Given the description of an element on the screen output the (x, y) to click on. 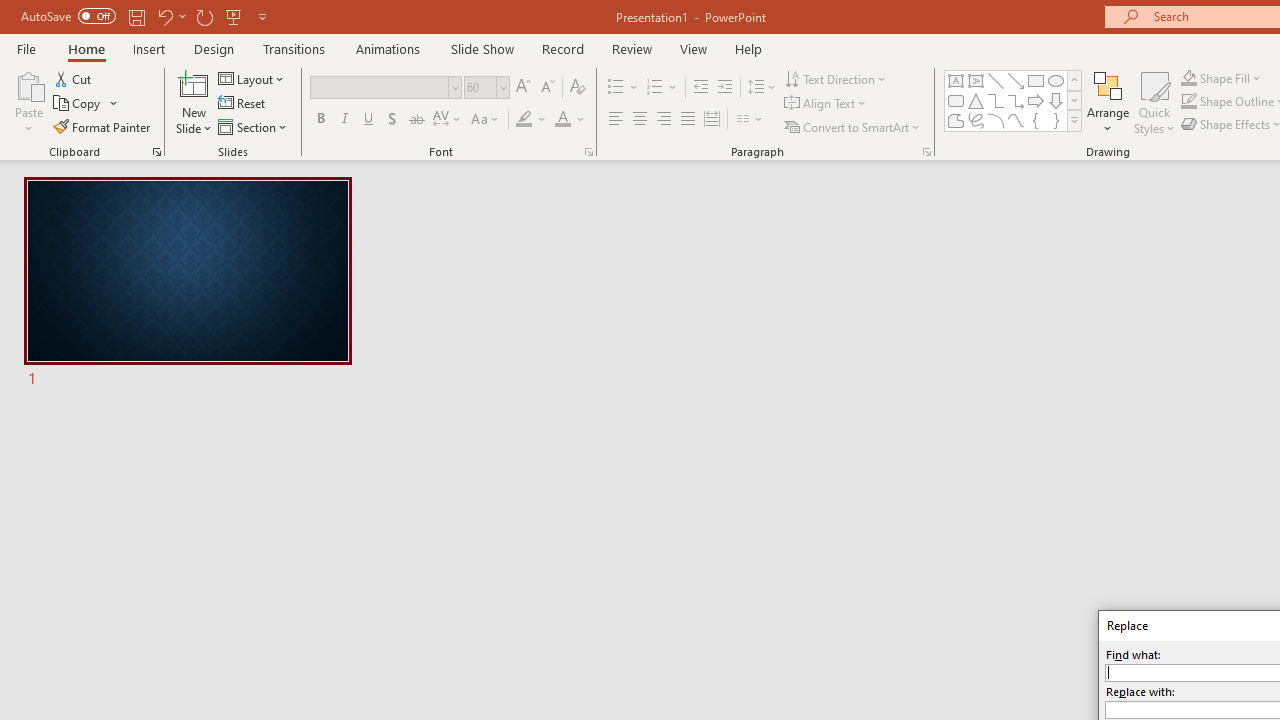
Arrange (1108, 102)
Text Highlight Color Yellow (524, 119)
Clear Formatting (577, 87)
AutomationID: ShapesInsertGallery (1014, 100)
Freeform: Shape (955, 120)
Font... (588, 151)
Rectangle: Rounded Corners (955, 100)
Freeform: Scribble (975, 120)
Distributed (712, 119)
